Given the description of an element on the screen output the (x, y) to click on. 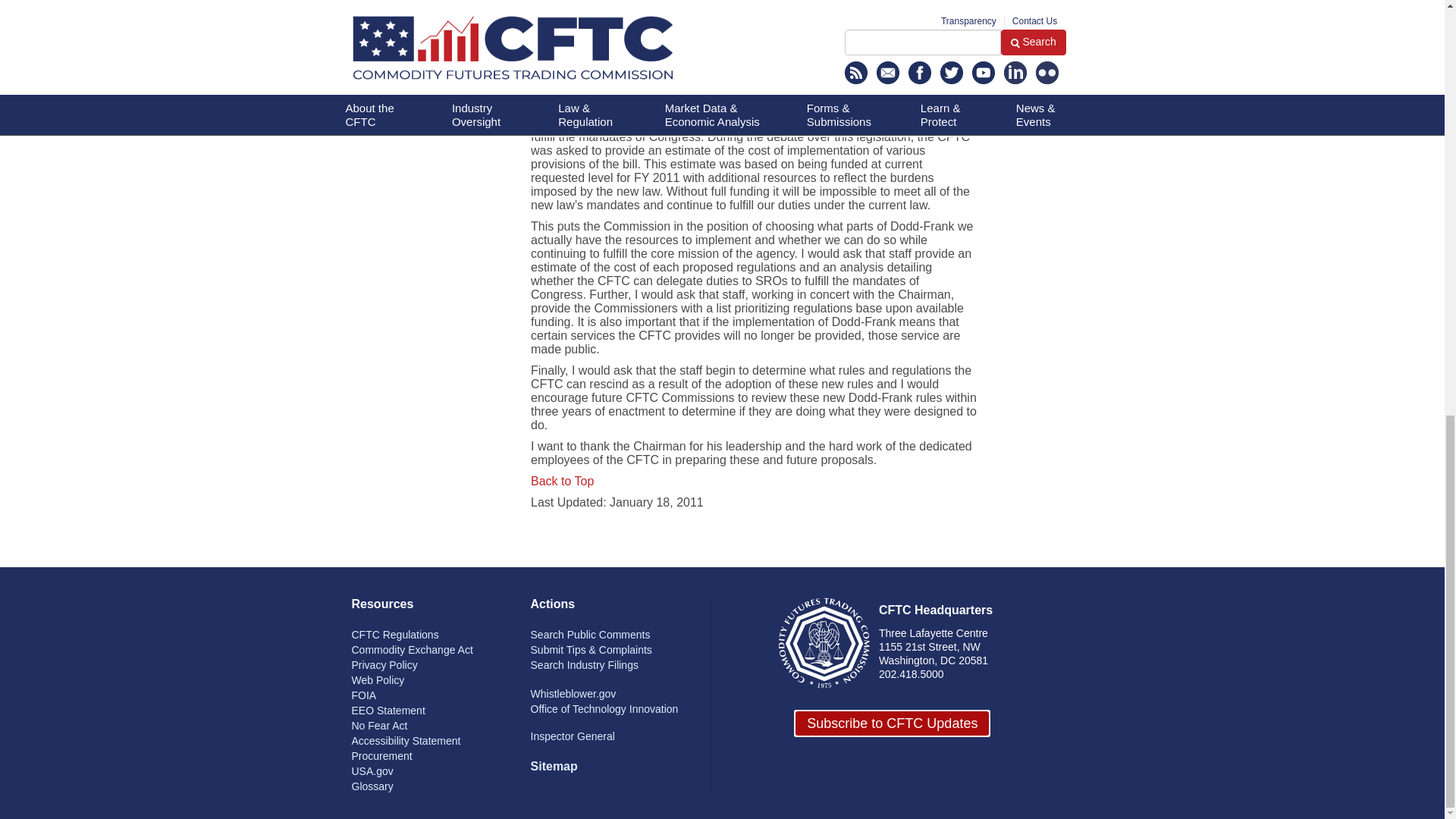
Subscribe to CFTC Updates (891, 723)
